Given the description of an element on the screen output the (x, y) to click on. 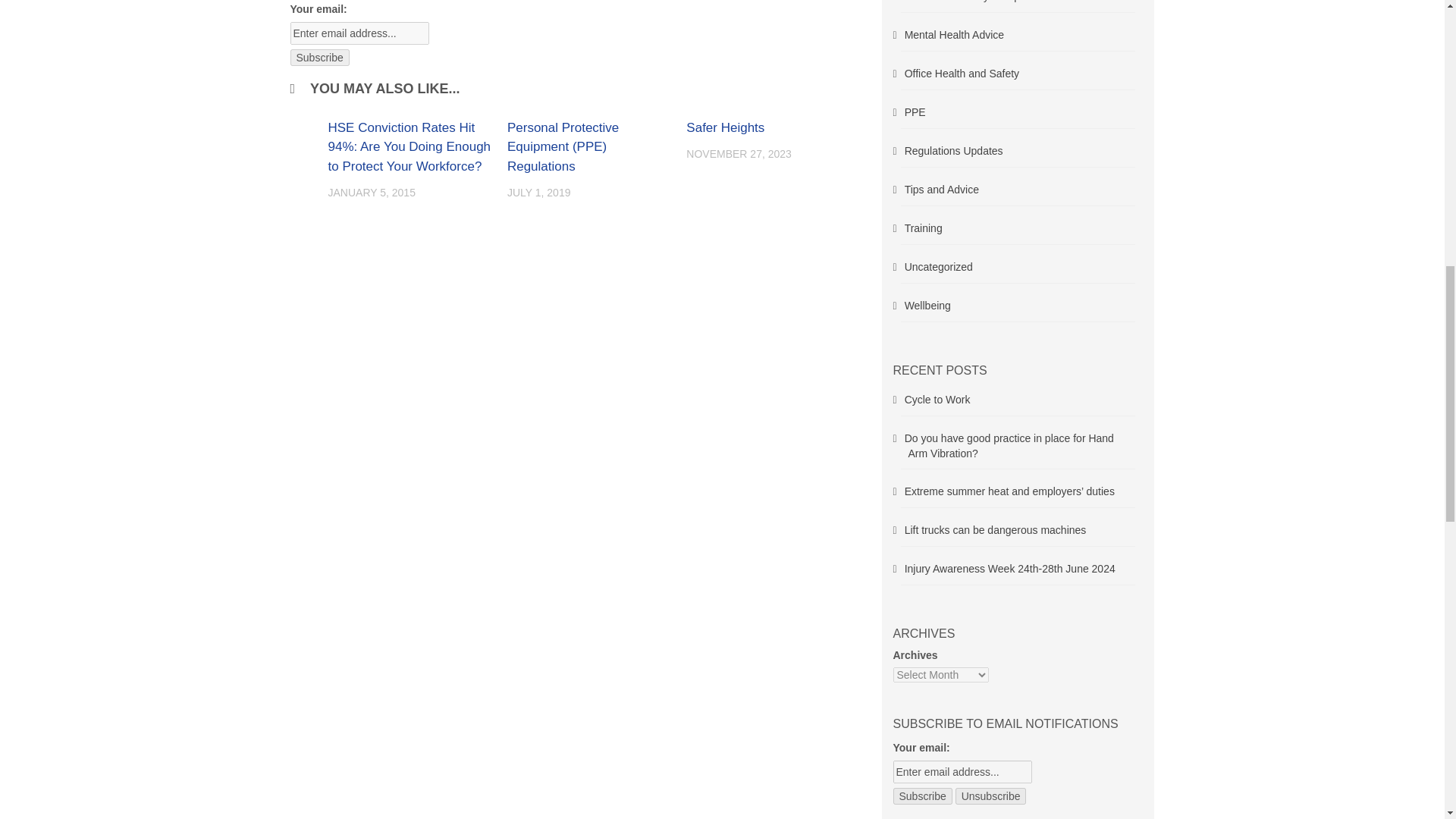
Enter email address... (962, 771)
Subscribe (319, 57)
Unsubscribe (990, 795)
Safer Heights (724, 127)
Subscribe (319, 57)
Enter email address... (358, 33)
Safer Heights (724, 127)
Subscribe (922, 795)
